Given the description of an element on the screen output the (x, y) to click on. 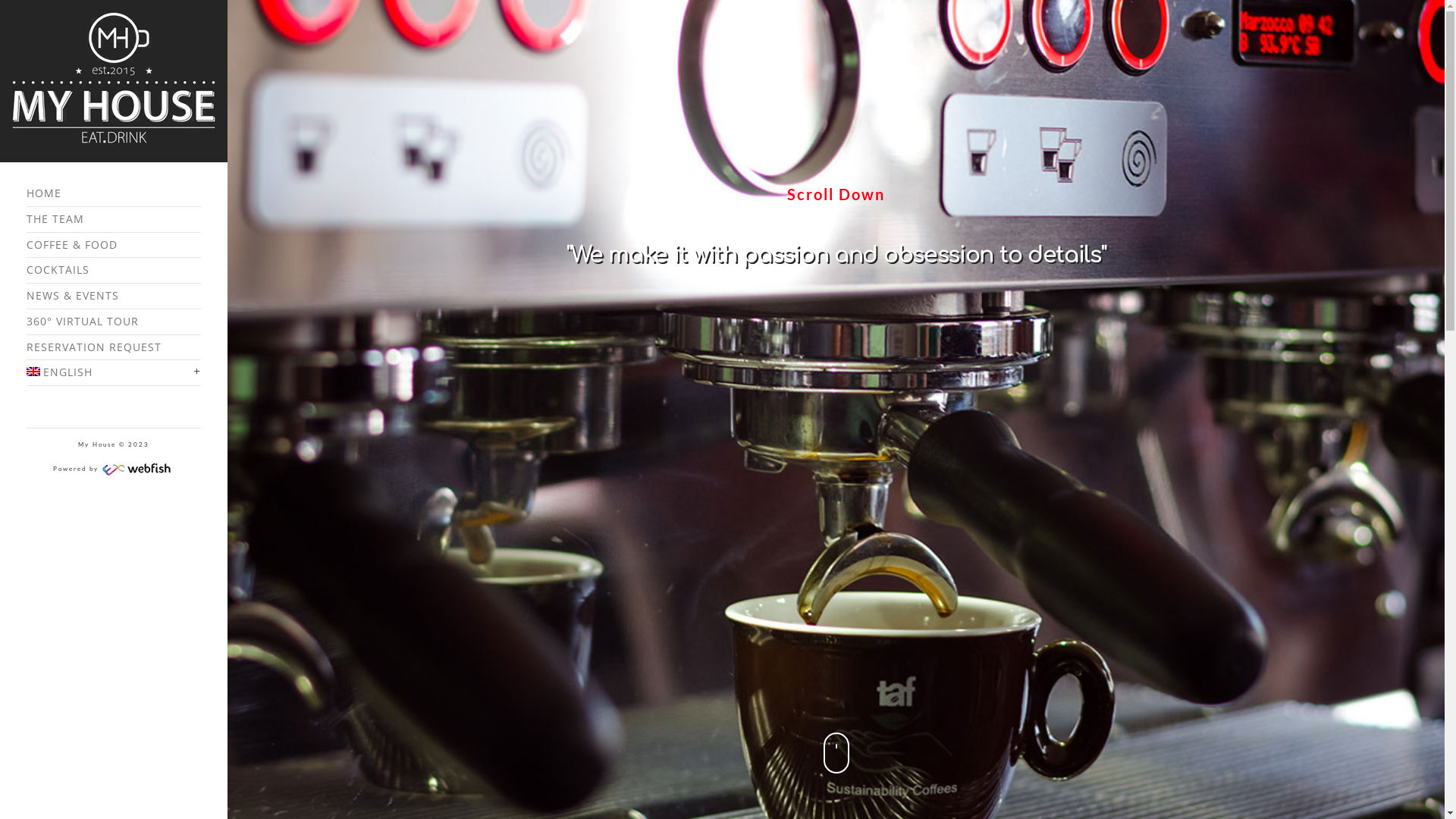
RESERVATION REQUEST Element type: text (113, 347)
COFFEE & FOOD Element type: text (113, 244)
THE TEAM Element type: text (113, 219)
ENGLISH Element type: text (113, 372)
NEWS & EVENTS Element type: text (113, 296)
HOME Element type: text (113, 194)
COCKTAILS Element type: text (113, 270)
